Given the description of an element on the screen output the (x, y) to click on. 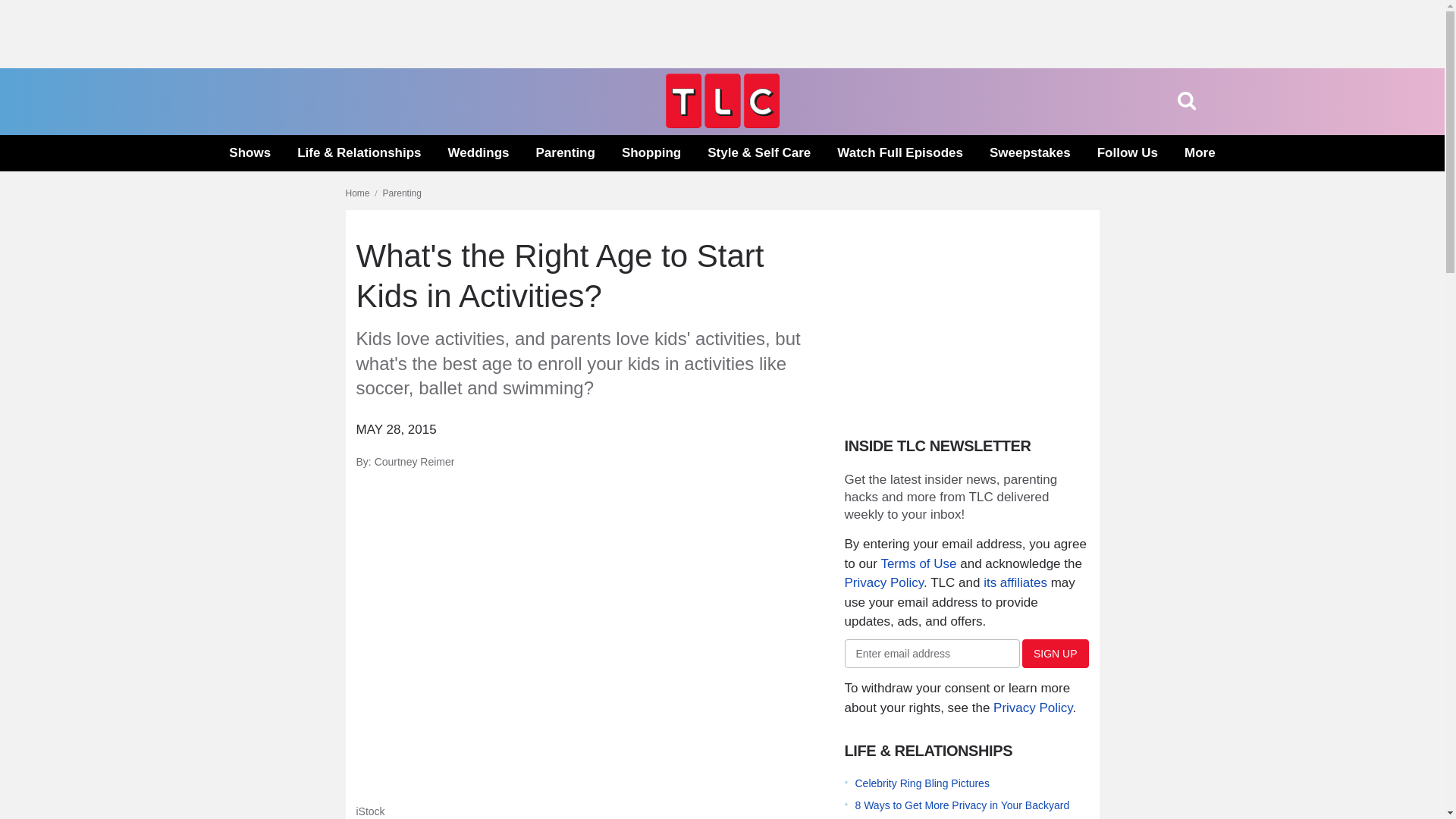
Weddings (478, 153)
home (721, 124)
Shows (249, 153)
